Given the description of an element on the screen output the (x, y) to click on. 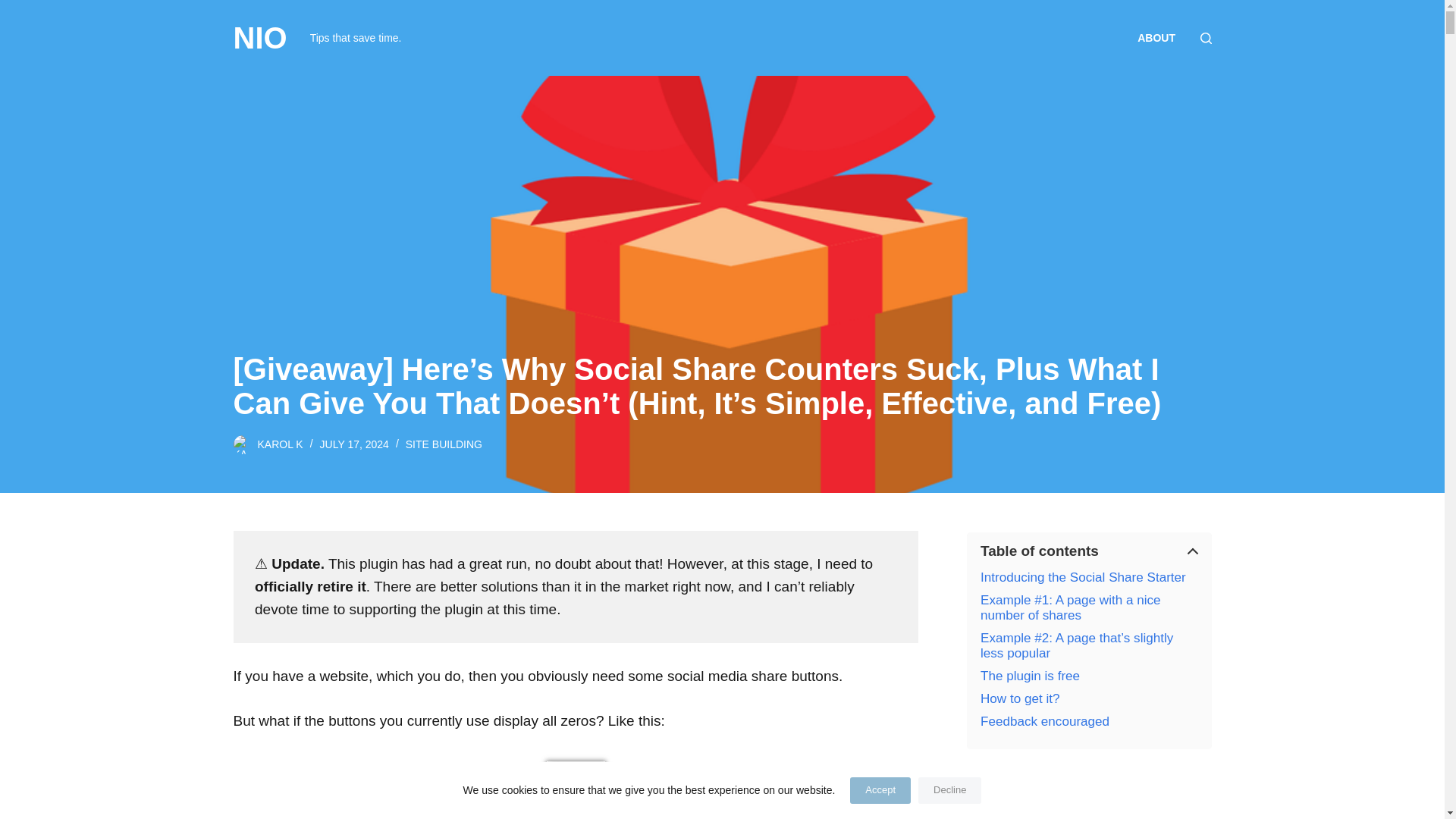
Skip to content (15, 7)
KAROL K (279, 444)
Accept (880, 790)
SITE BUILDING (443, 444)
NIO (259, 37)
How to get it? (1019, 698)
Feedback encouraged (1044, 721)
Introducing the Social Share Starter (1082, 577)
Decline (949, 790)
Posts by Karol K (279, 444)
